Given the description of an element on the screen output the (x, y) to click on. 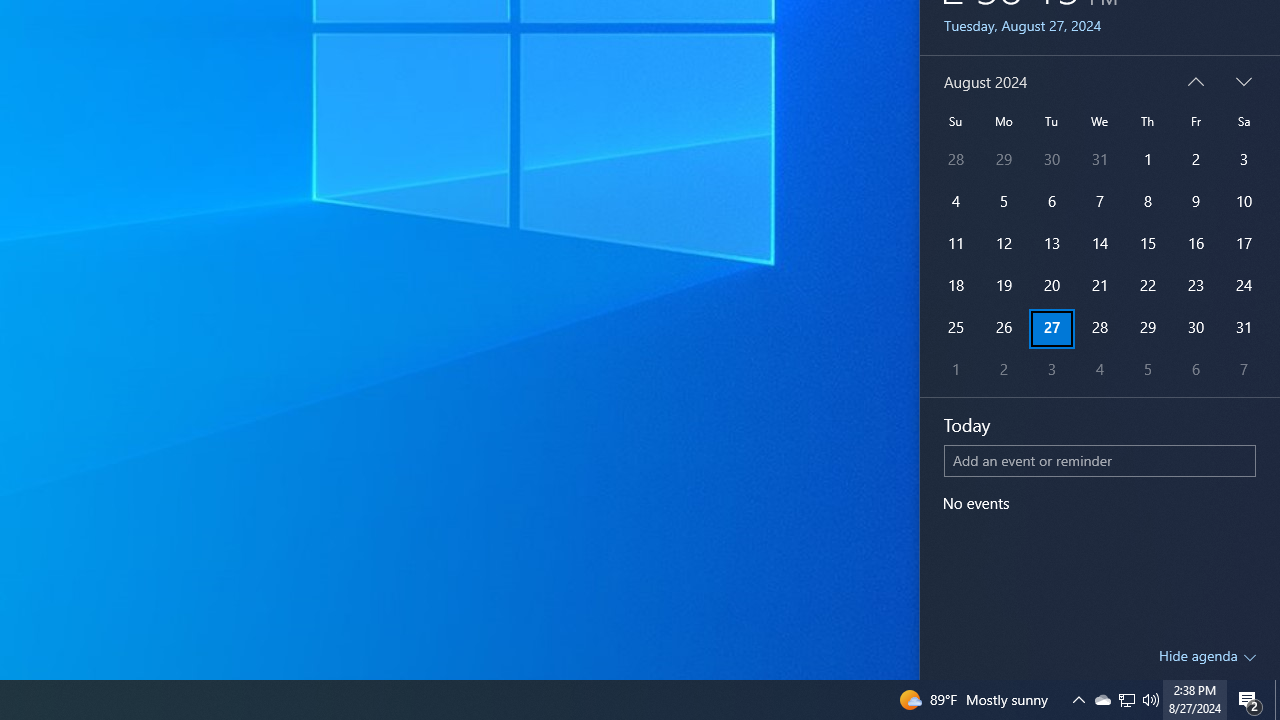
30 (1195, 328)
17 (1244, 244)
3 (1052, 370)
6 (1195, 370)
7 (1244, 370)
25 (956, 328)
16 (1126, 699)
21 (1195, 244)
22 (1099, 286)
4 (1148, 286)
Previous (1099, 370)
11 (1195, 82)
12 (956, 244)
